Given the description of an element on the screen output the (x, y) to click on. 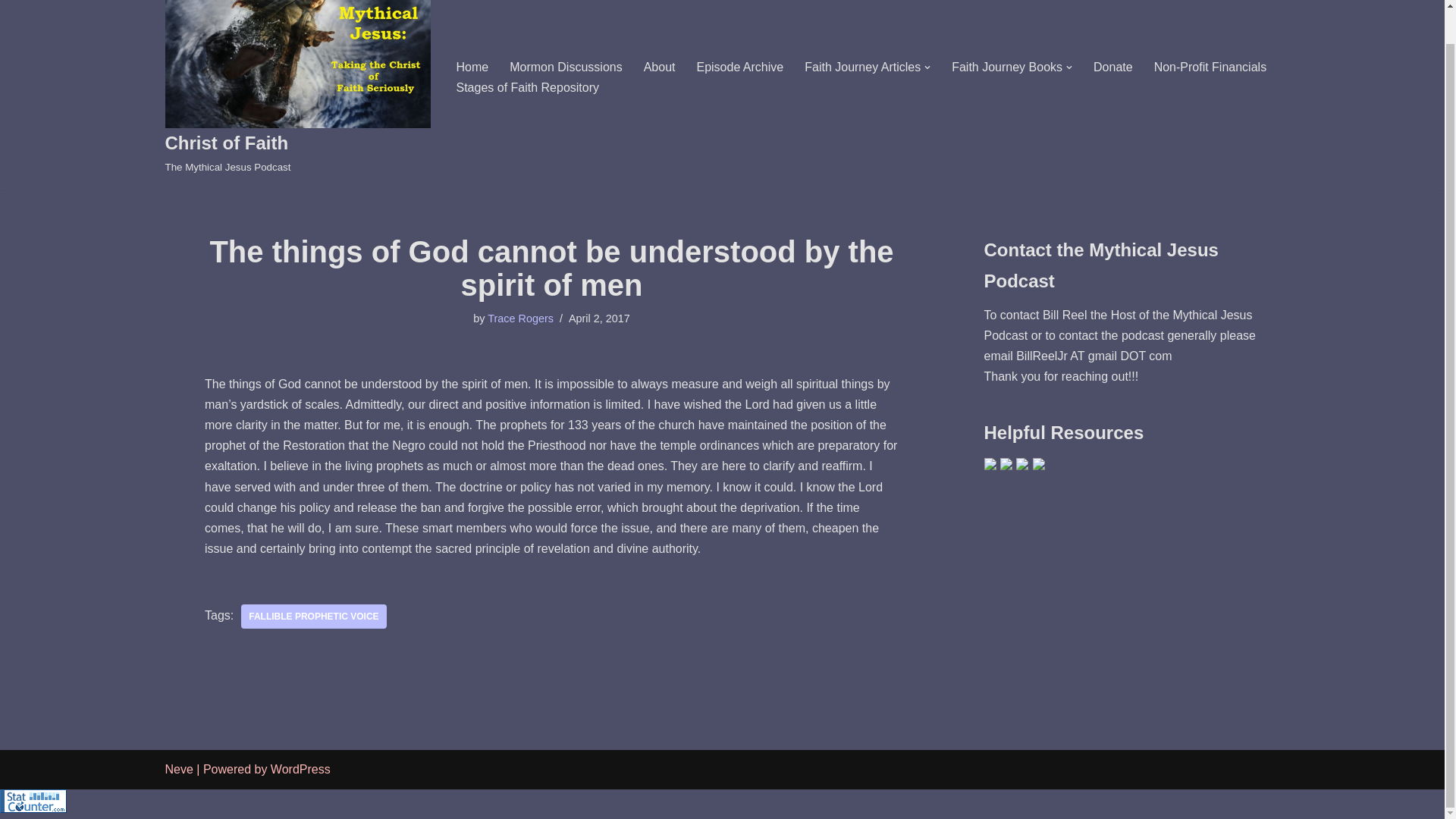
Mormon Discussions (565, 66)
Faith Journey Articles (862, 66)
Donate (1112, 66)
Stages of Faith Repository (528, 86)
Fallible Prophetic Voice (297, 88)
Skip to content (313, 616)
Faith Journey Books (11, 2)
Non-Profit Financials (1007, 66)
Episode Archive (1210, 66)
